Given the description of an element on the screen output the (x, y) to click on. 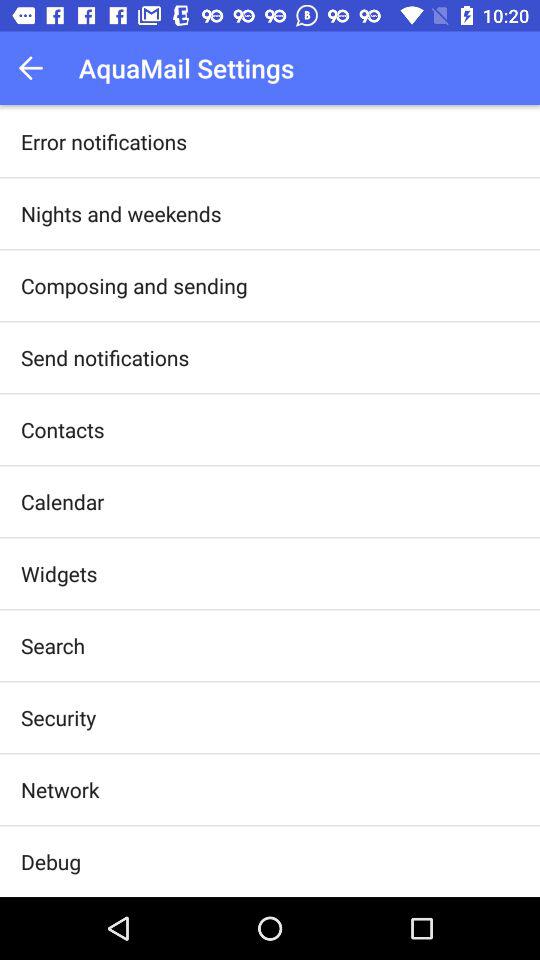
tap app below nights and weekends (134, 285)
